Given the description of an element on the screen output the (x, y) to click on. 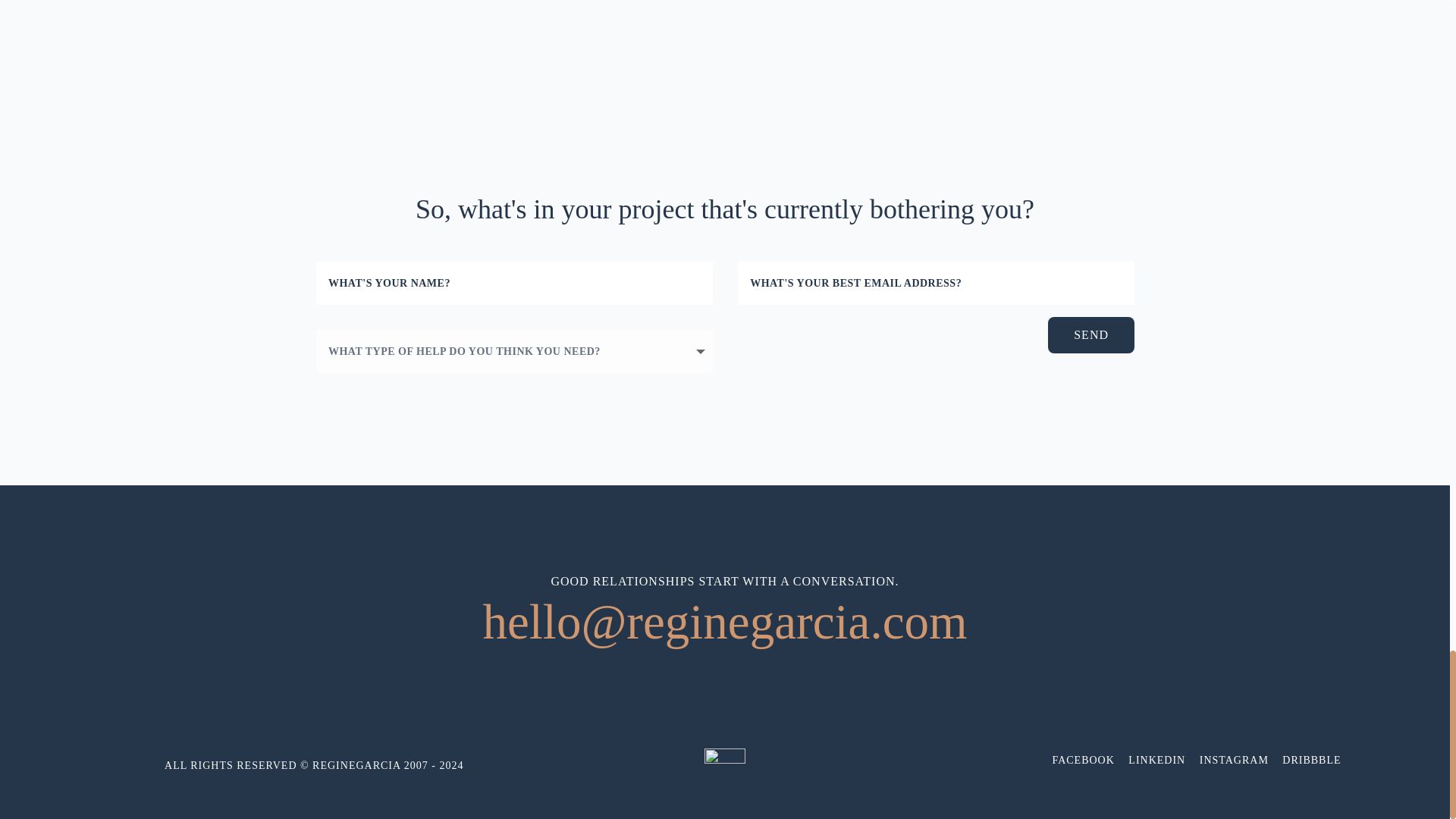
SEND (1091, 334)
FACEBOOK (1082, 759)
INSTAGRAM (1233, 759)
LINKEDIN (1156, 759)
regine-garcia-logo-white (724, 768)
DRIBBBLE (1311, 759)
